Given the description of an element on the screen output the (x, y) to click on. 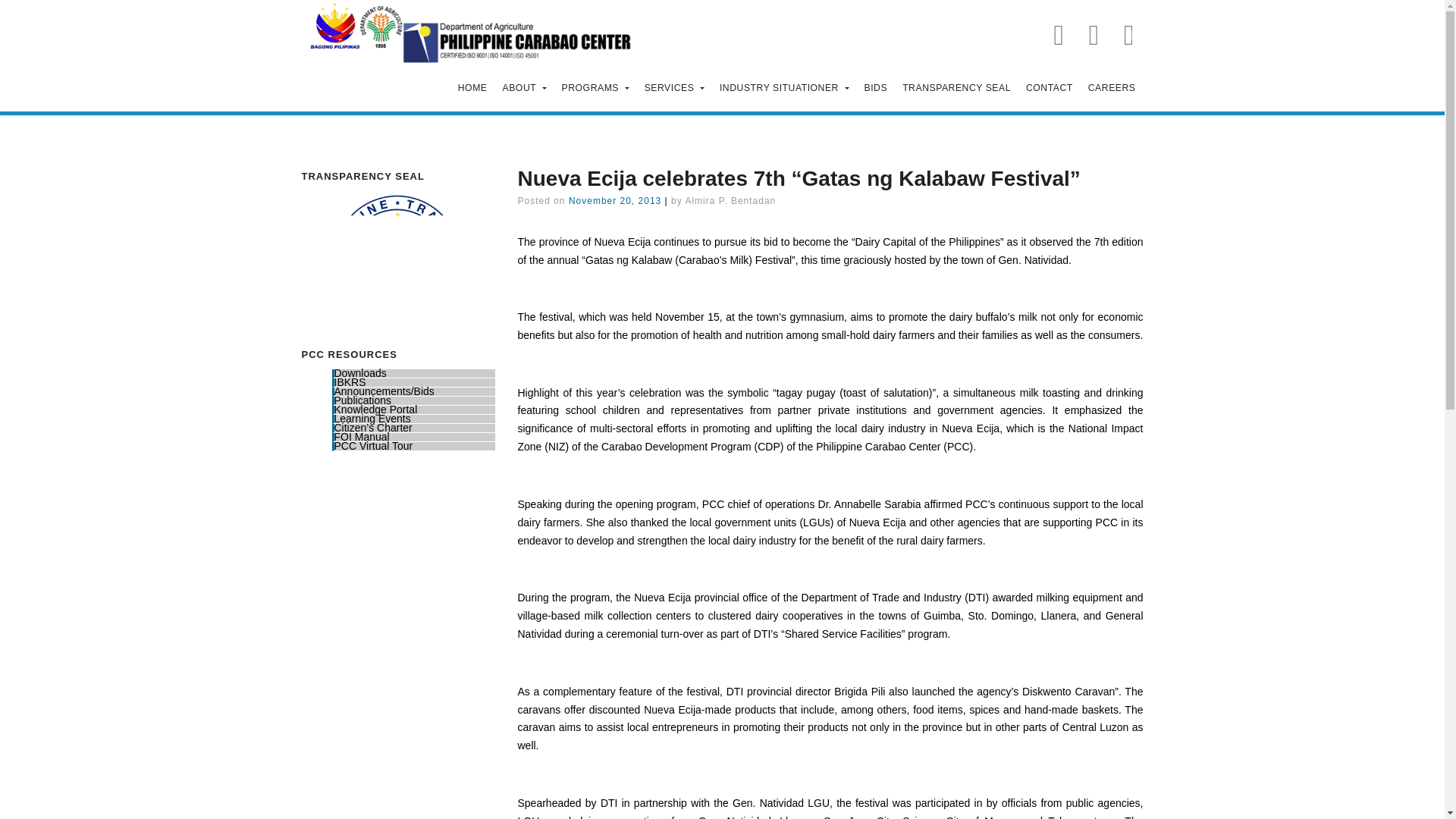
SERVICES (674, 88)
Programs (595, 88)
PROGRAMS (595, 88)
ABOUT (524, 88)
HOME (472, 88)
Subscribe to our Youtube Channel (1094, 33)
About (524, 88)
INDUSTRY SITUATIONER (784, 88)
Home (472, 88)
